Given the description of an element on the screen output the (x, y) to click on. 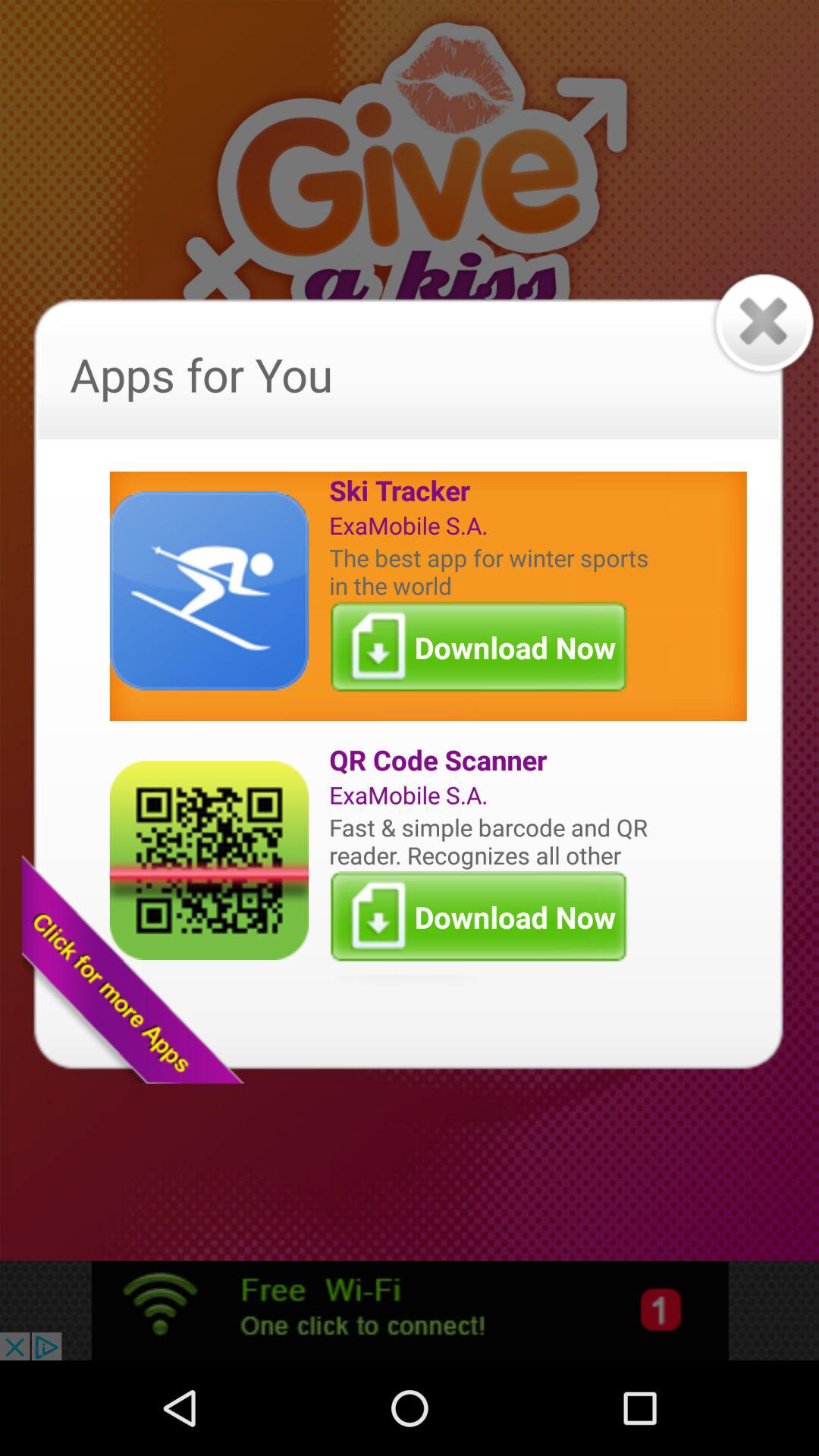
select the fast simple barcode (492, 841)
